Given the description of an element on the screen output the (x, y) to click on. 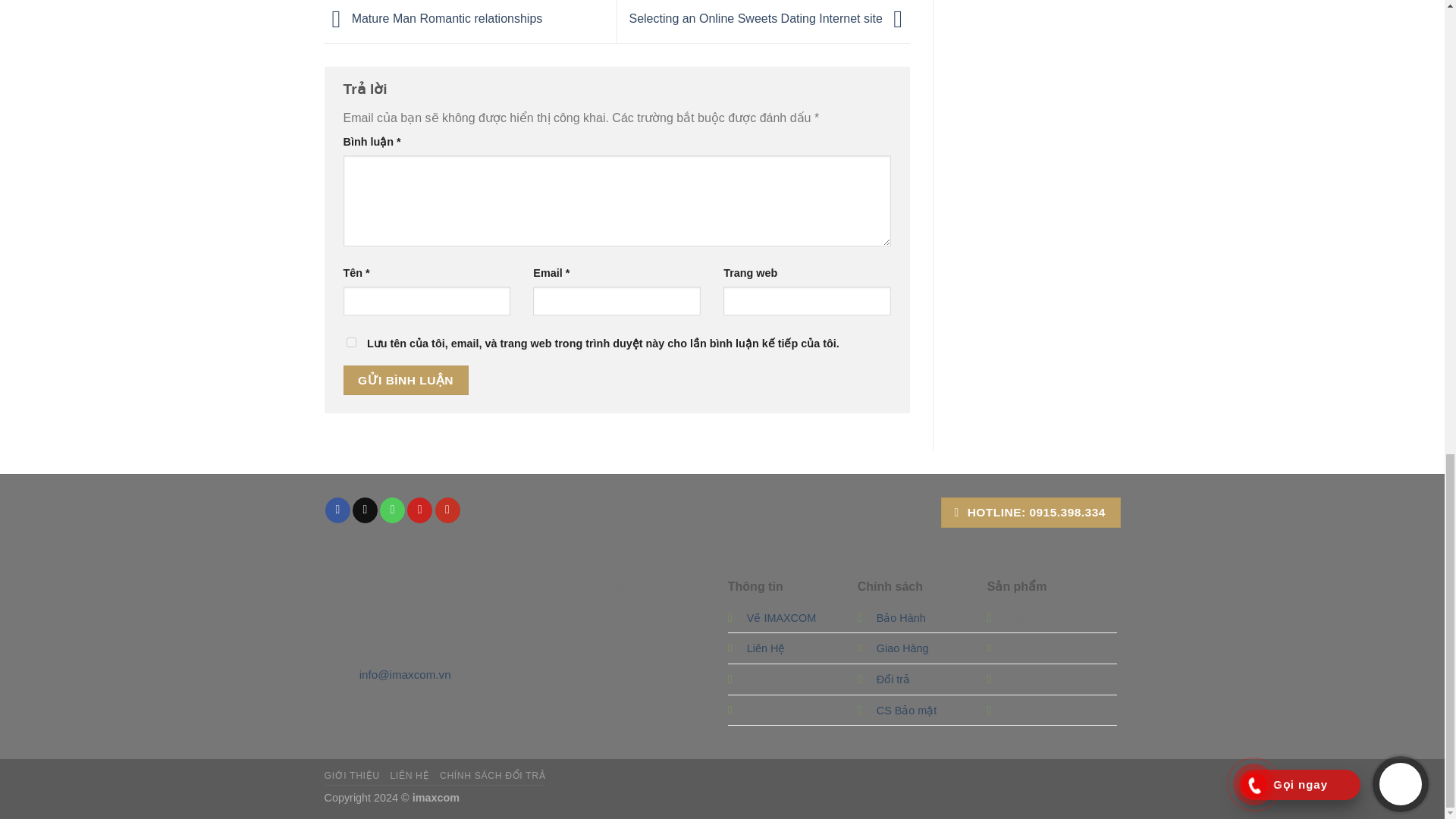
Call us (392, 510)
Follow on Facebook (337, 510)
Selecting an Online Sweets Dating Internet site (769, 18)
Mature Man Romantic relationships (433, 18)
Send us an email (364, 510)
yes (350, 342)
